Given the description of an element on the screen output the (x, y) to click on. 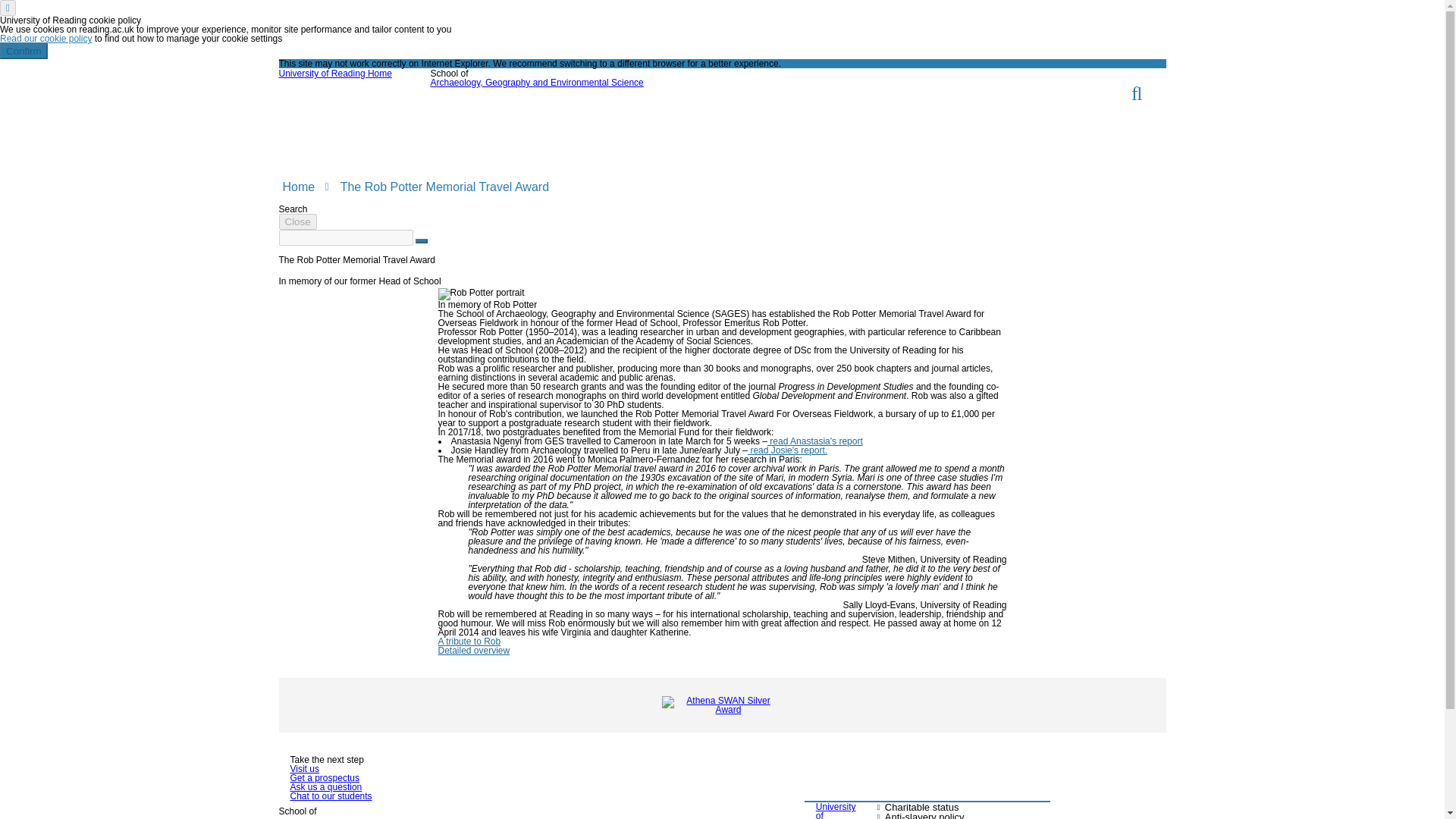
The Rob Potter Memorial Travel Award (444, 186)
Work with us (1112, 138)
Detailed overview (474, 650)
Close (298, 221)
Home (298, 186)
Confirm (24, 50)
Get a prospectus (323, 777)
Visit us (303, 768)
A tribute to Rob (469, 641)
QUEST: our enterprise services (391, 138)
